Given the description of an element on the screen output the (x, y) to click on. 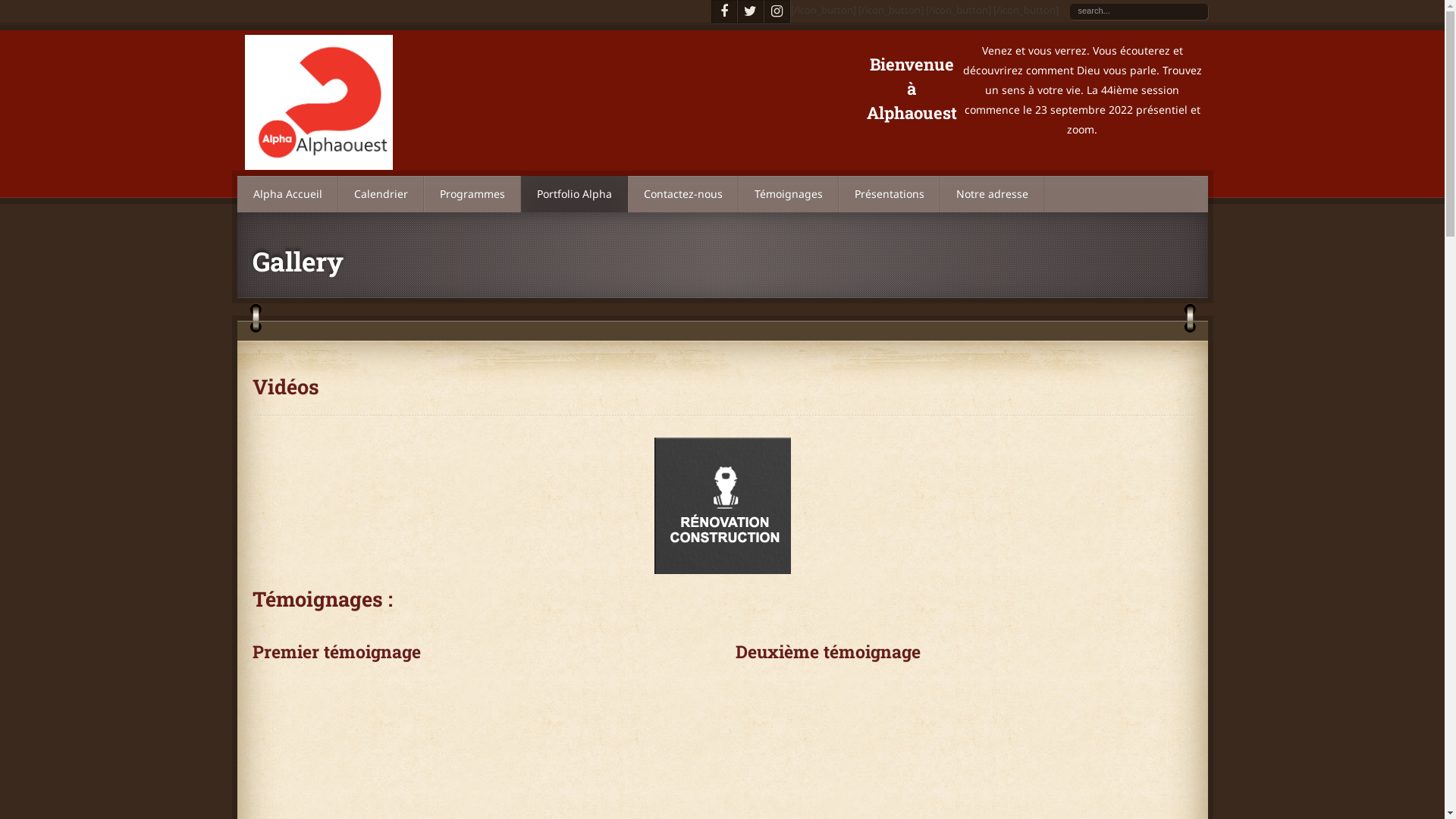
Calendrier Element type: text (380, 193)
Portfolio Alpha Element type: text (573, 193)
Alpha Accueil Element type: text (286, 193)
Contactez-nous Element type: text (682, 193)
Reset Element type: text (16, 11)
Notre adresse Element type: text (992, 193)
Programmes Element type: text (471, 193)
